Given the description of an element on the screen output the (x, y) to click on. 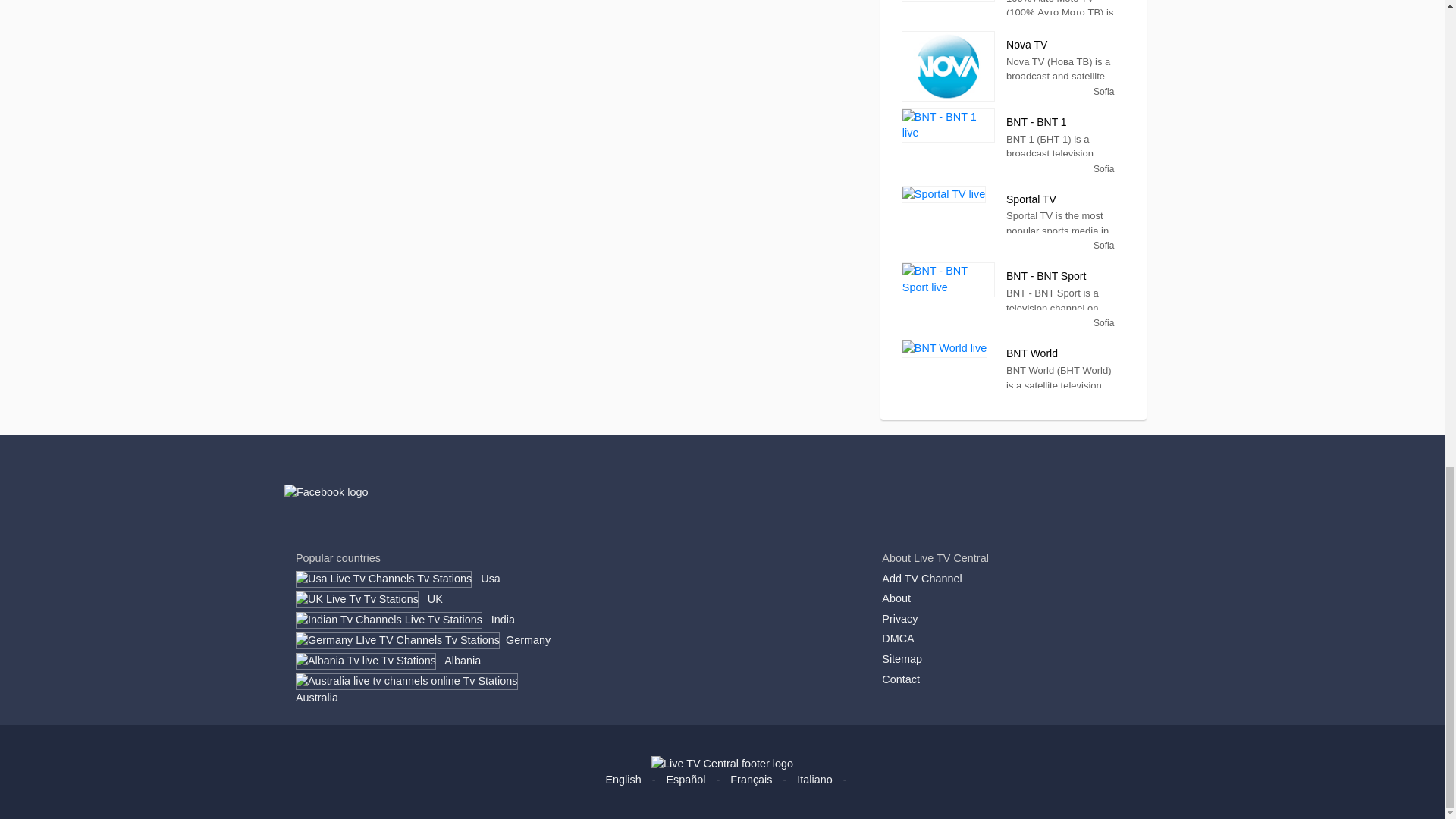
Sportal TV (943, 194)
BNT World (944, 348)
BNT - BNT 1 (947, 125)
Nova TV (947, 66)
BNT - BNT Sport (947, 279)
